Given the description of an element on the screen output the (x, y) to click on. 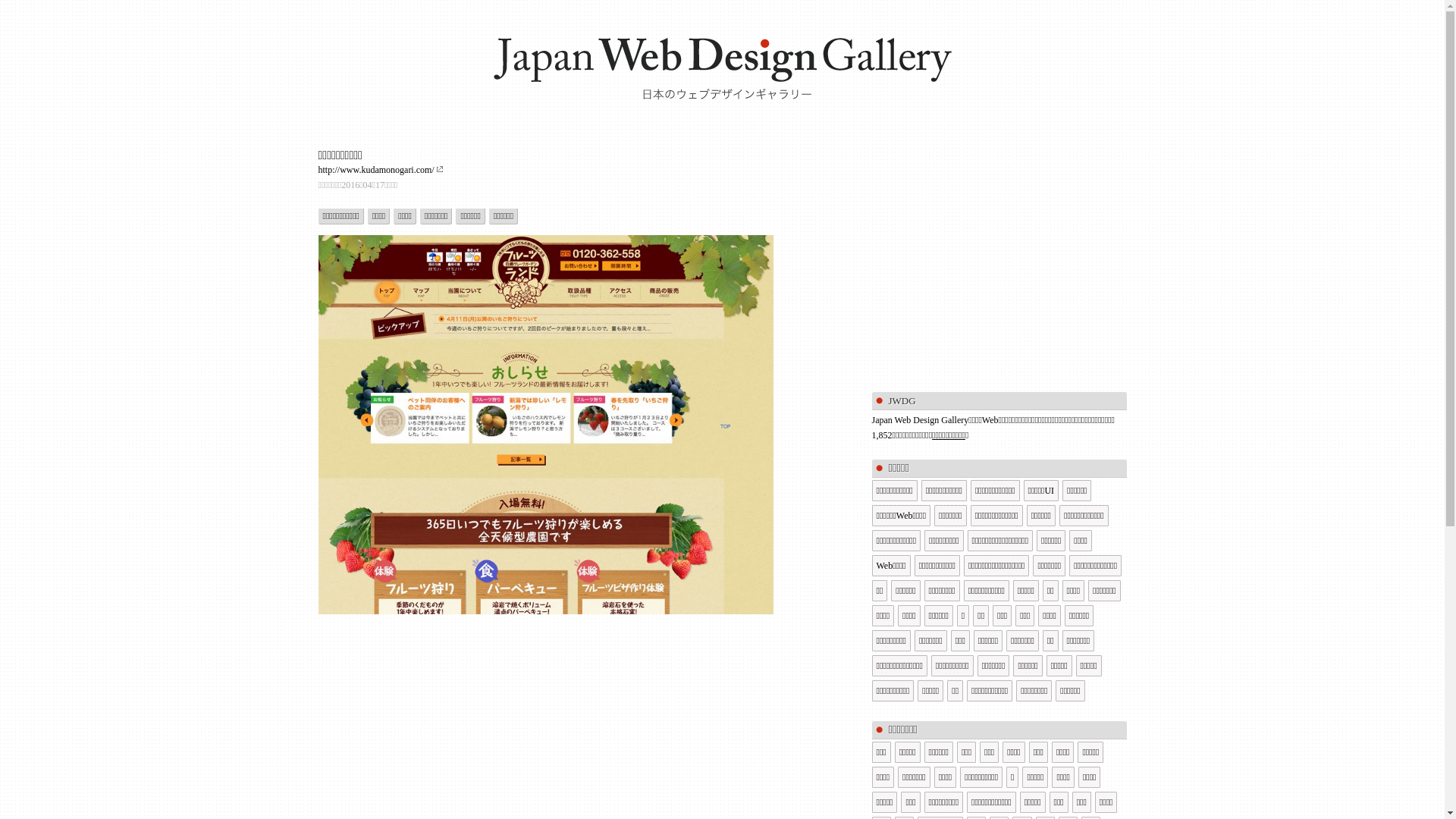
Advertisement Element type: hover (999, 254)
http://www.kudamonogari.com/ Element type: text (380, 169)
